Given the description of an element on the screen output the (x, y) to click on. 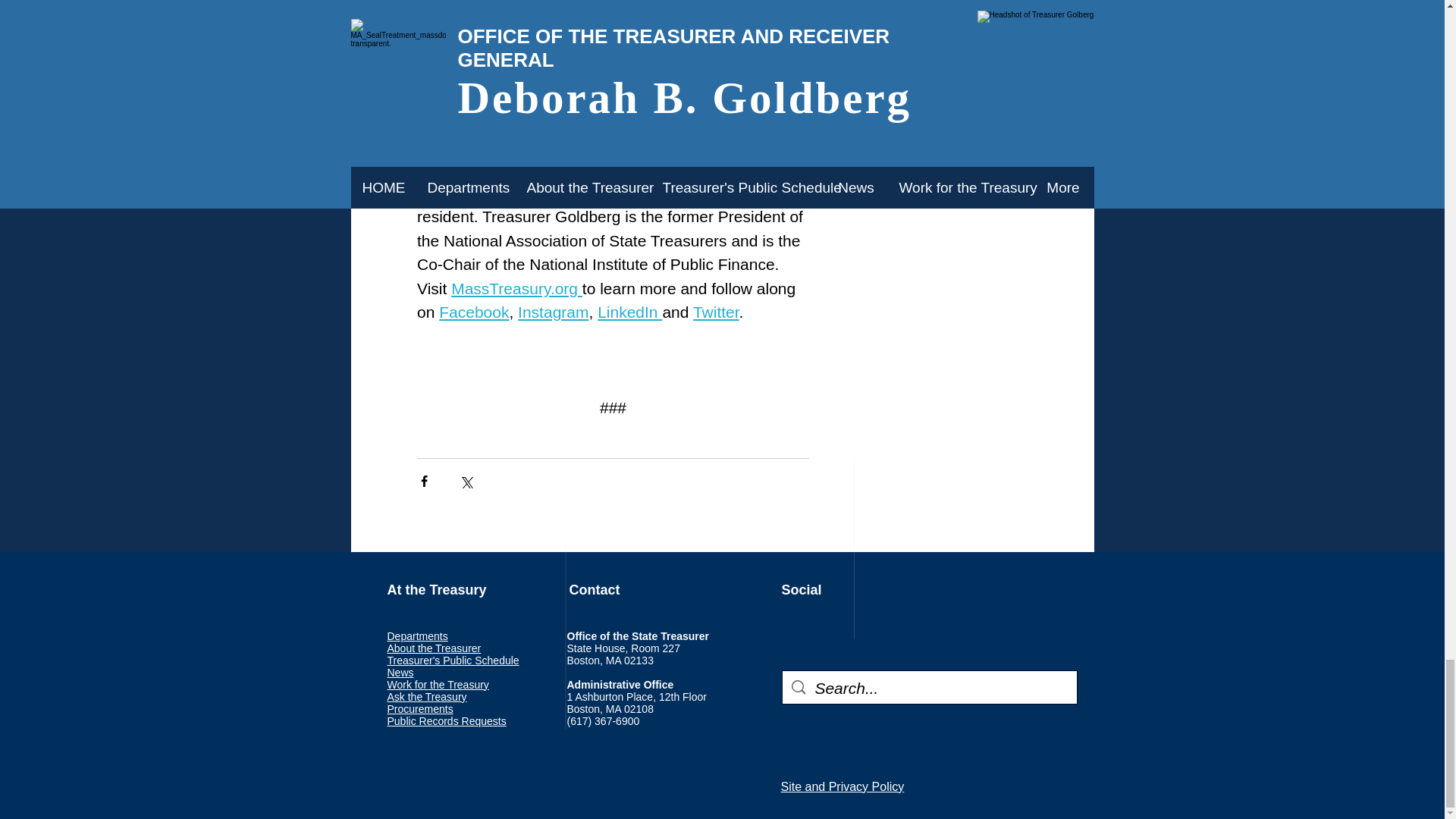
Twitter (715, 312)
13 departments and agencies  (619, 49)
Facebook (473, 312)
LinkedIn  (629, 312)
Instagram (553, 312)
MassTreasury.org  (516, 288)
